Given the description of an element on the screen output the (x, y) to click on. 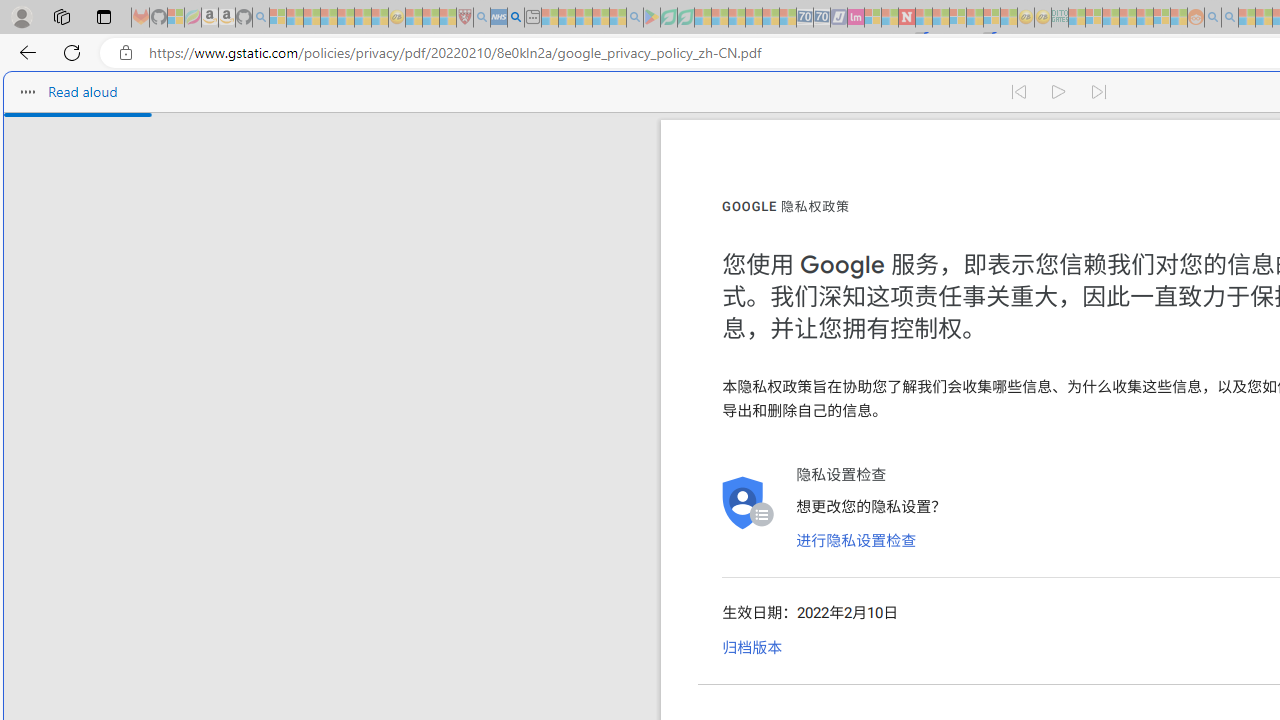
Robert H. Shmerling, MD - Harvard Health - Sleeping (465, 17)
